Given the description of an element on the screen output the (x, y) to click on. 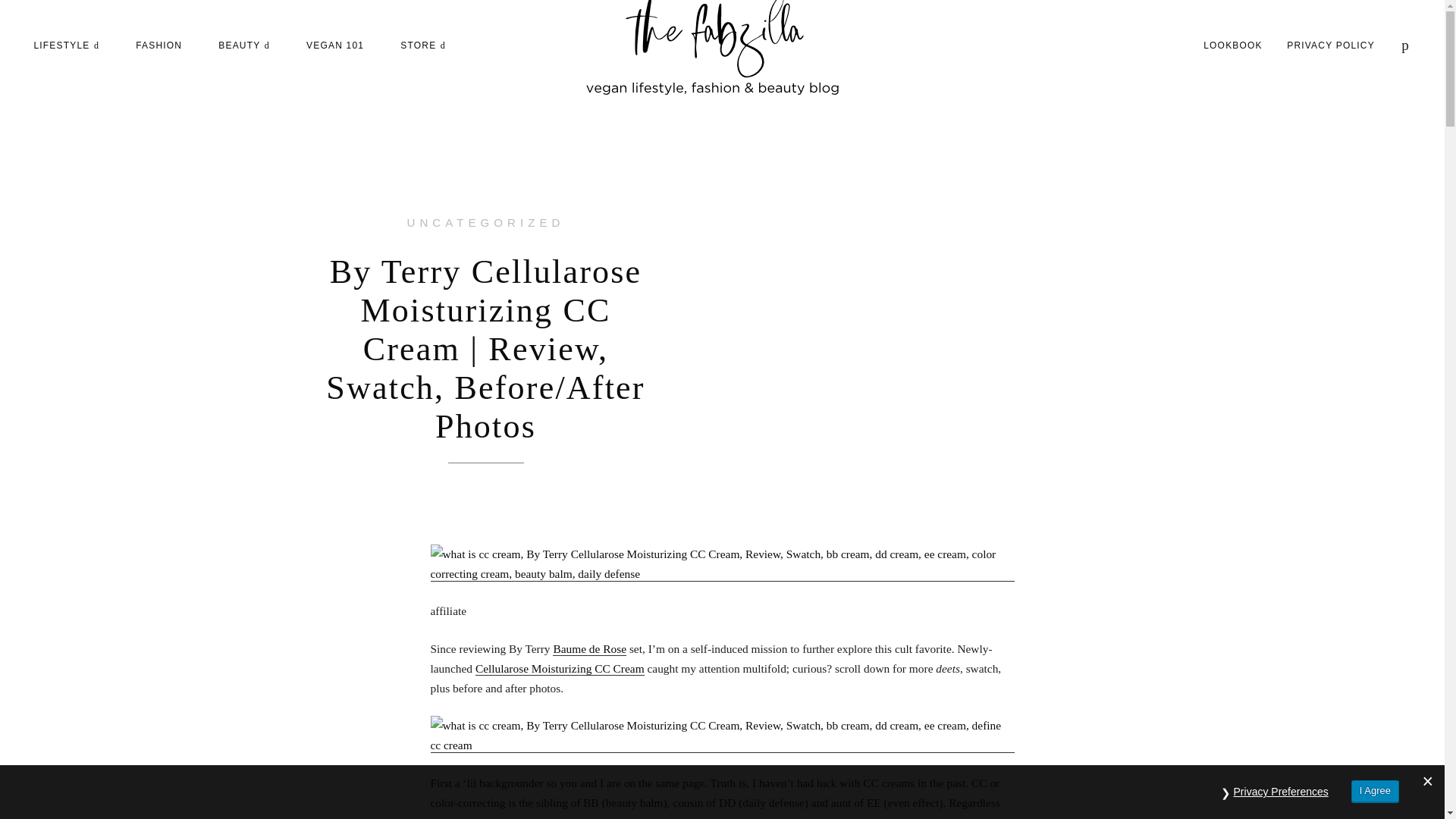
STORE (422, 45)
FASHION (158, 45)
Baume de Rose (589, 648)
LIFESTYLE (66, 45)
PRIVACY POLICY (1330, 45)
UNCATEGORIZED (485, 222)
Cellularose Moisturizing CC Cream (560, 668)
thefabzilla (712, 48)
VEGAN 101 (334, 45)
LOOKBOOK (1233, 45)
BEAUTY (243, 45)
